Given the description of an element on the screen output the (x, y) to click on. 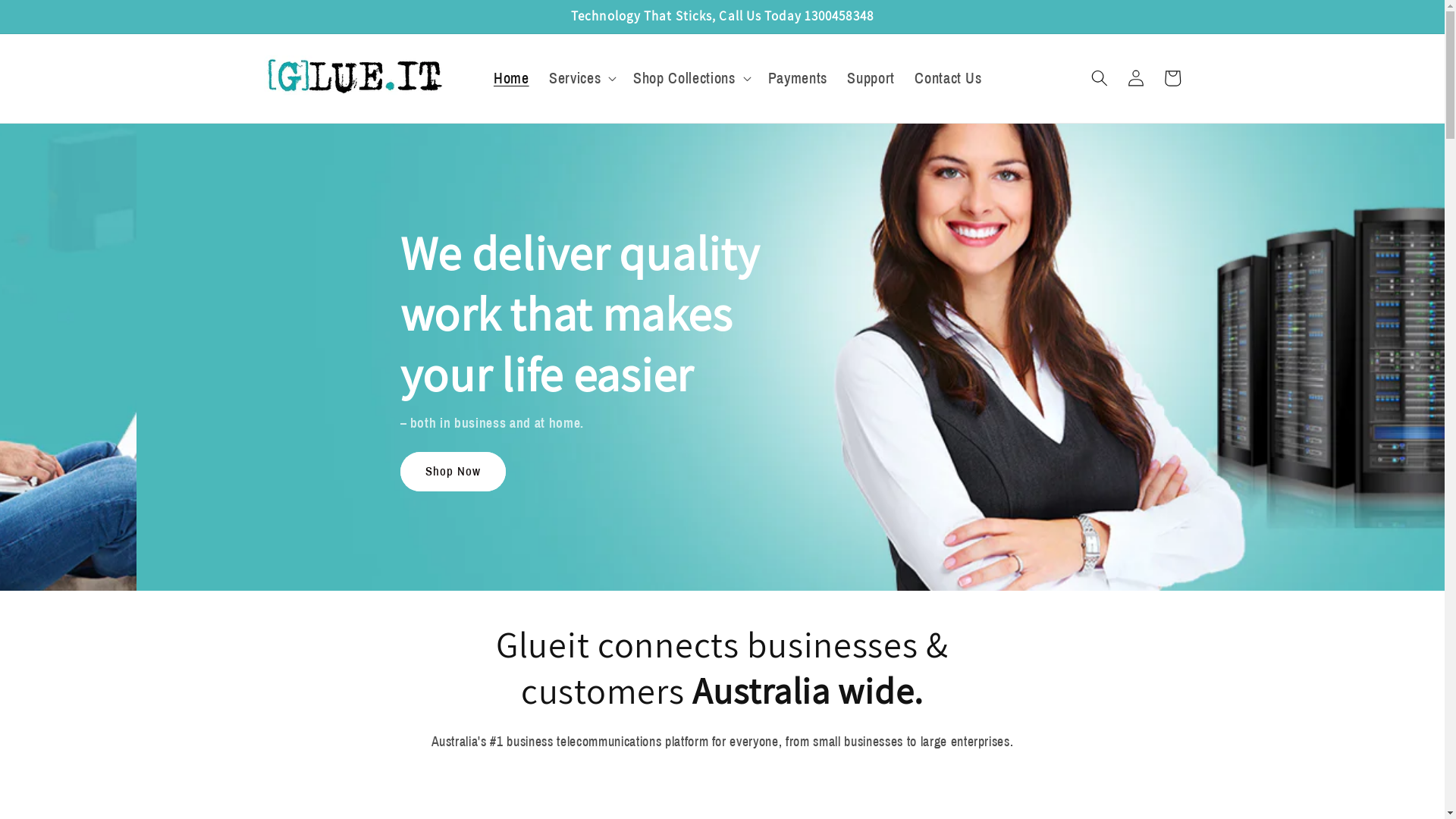
Shop Now Element type: text (1377, 471)
Support Element type: text (870, 78)
Contact Us Element type: text (947, 78)
Payments Element type: text (797, 78)
Home Element type: text (511, 78)
Cart Element type: text (1172, 77)
Log in Element type: text (1135, 77)
